Given the description of an element on the screen output the (x, y) to click on. 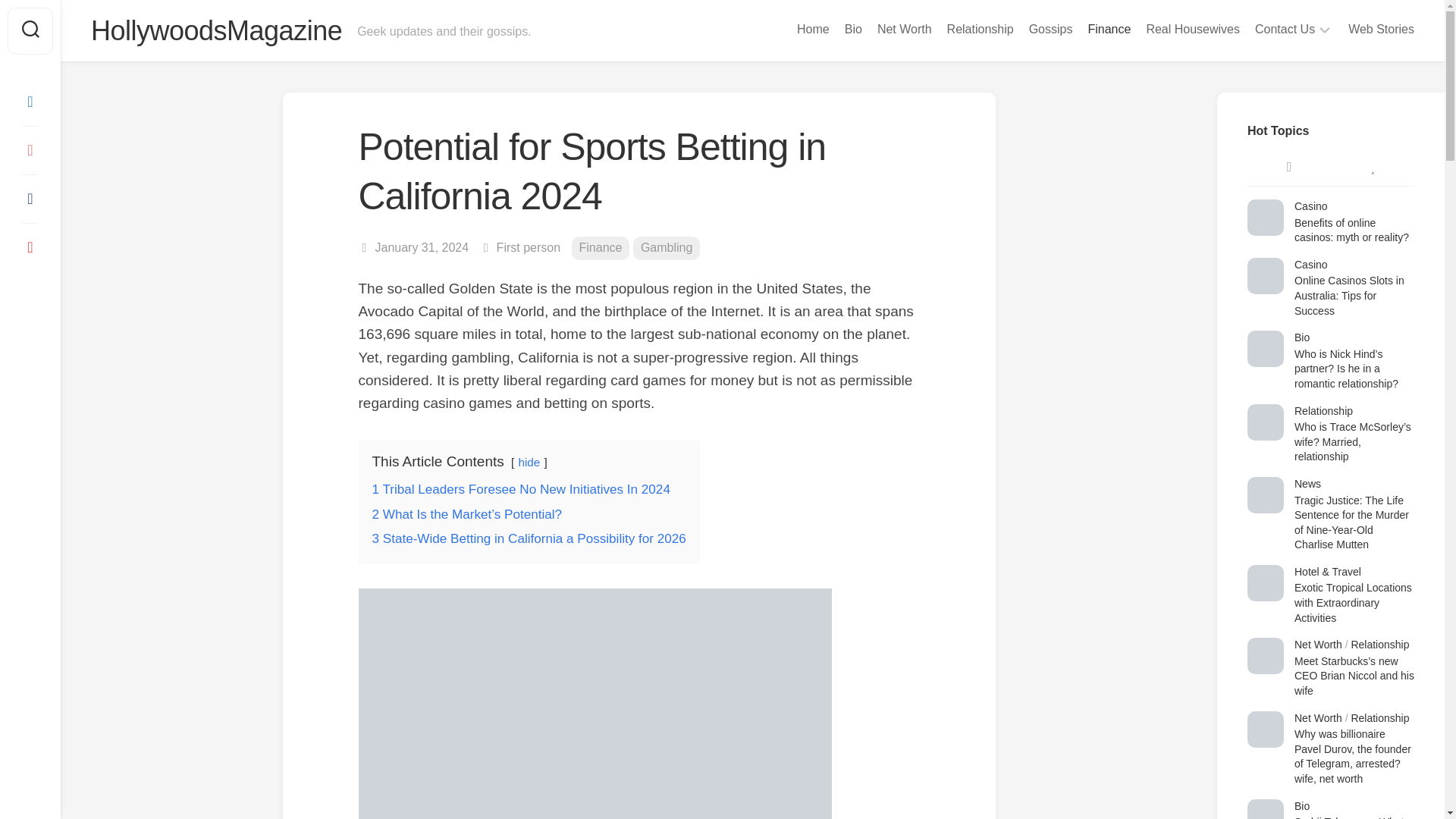
Gossips (1051, 29)
Home (812, 29)
Popular Posts (1371, 166)
Web Stories (1380, 29)
Finance (601, 248)
hide (529, 461)
HollywoodsMagazine (216, 31)
Gambling (666, 248)
Real Housewives (1192, 29)
First person (528, 246)
